Given the description of an element on the screen output the (x, y) to click on. 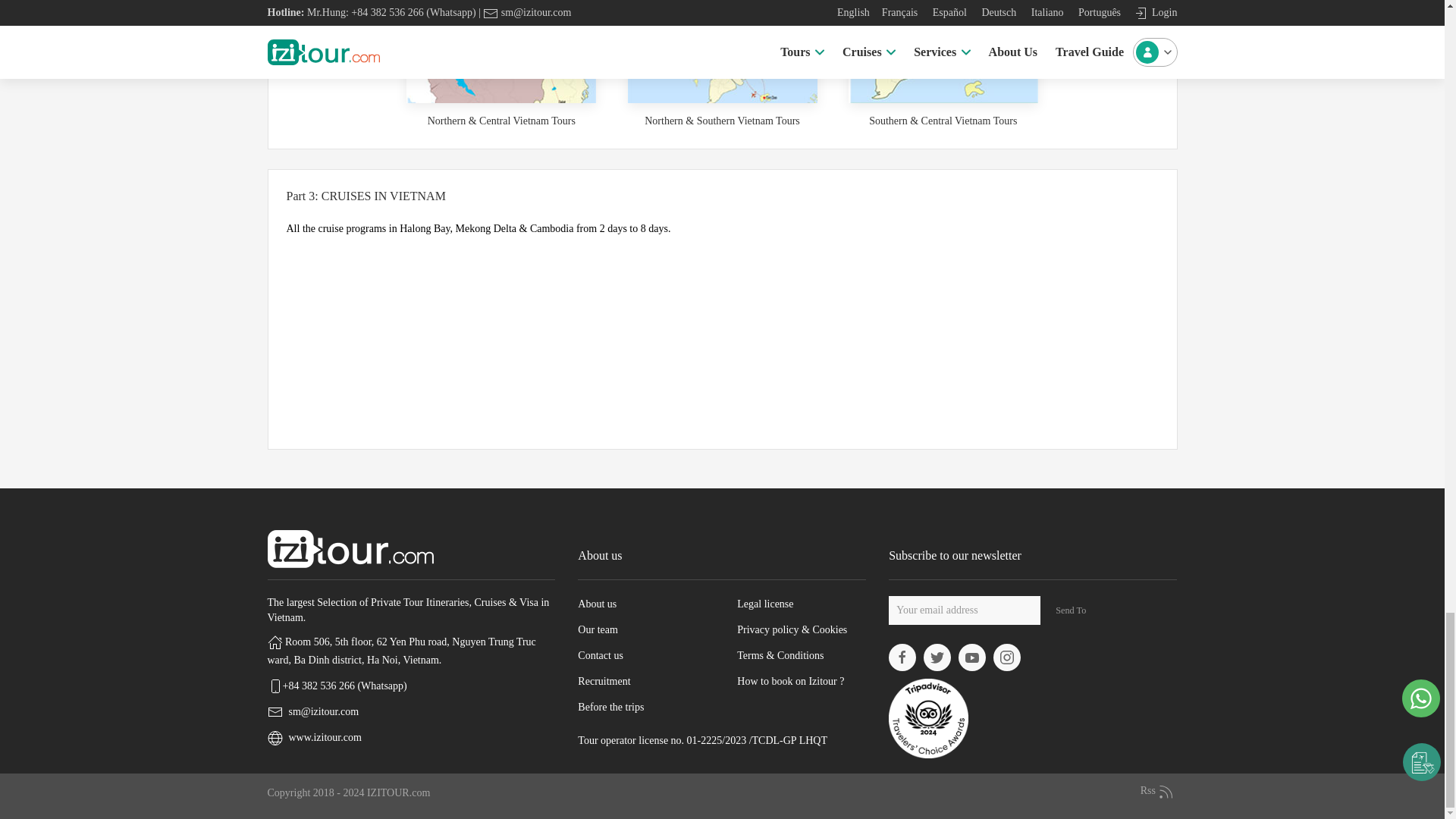
Izitour Youtube (971, 656)
Izitour Twitter (936, 656)
Izitour Instagram (1006, 656)
Izitour Certificate Trip (928, 717)
Izitour Facebook (901, 656)
